Given the description of an element on the screen output the (x, y) to click on. 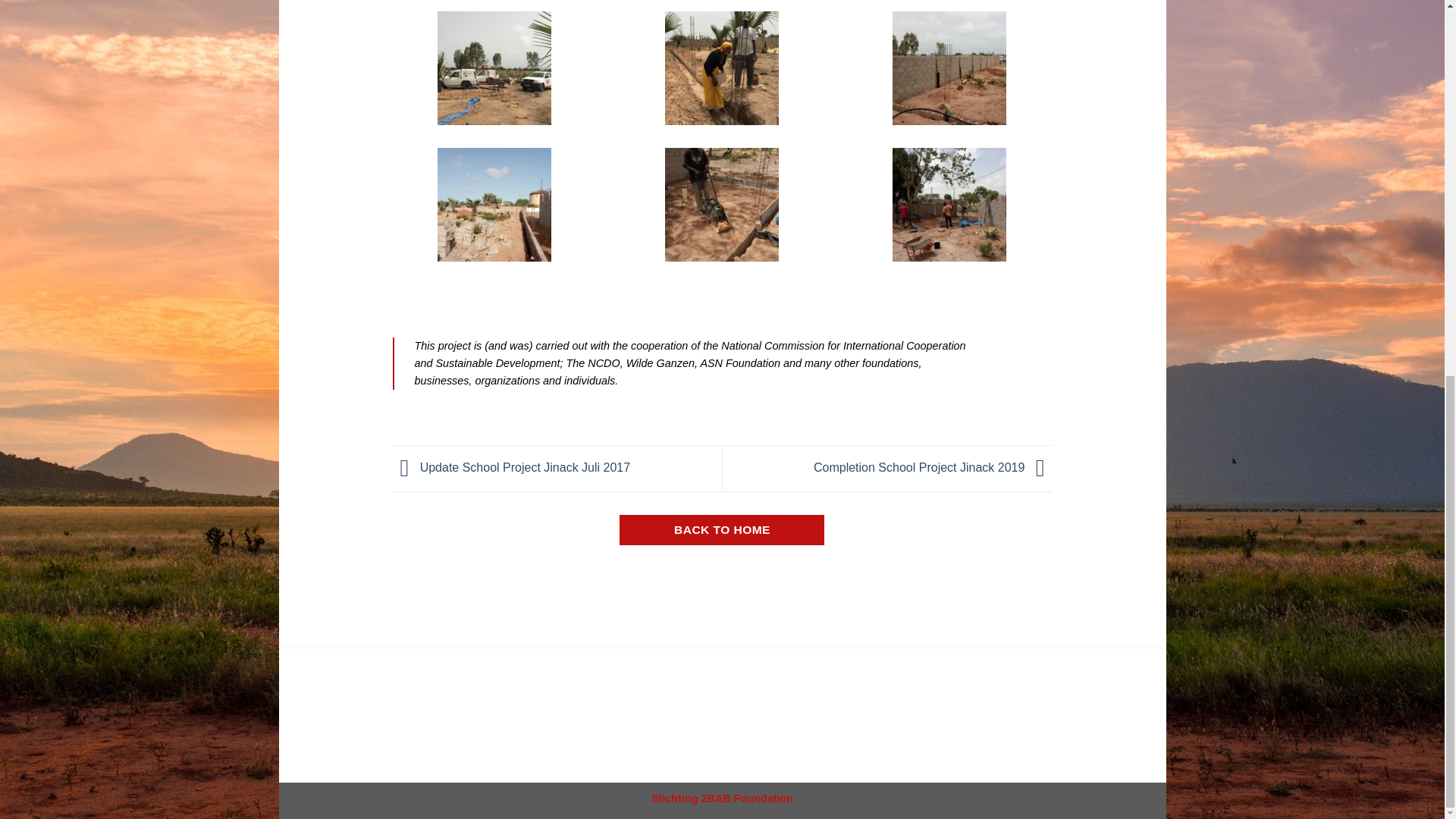
BACK TO HOME (722, 529)
Update School Project Jinack Juli 2017 (511, 467)
